Given the description of an element on the screen output the (x, y) to click on. 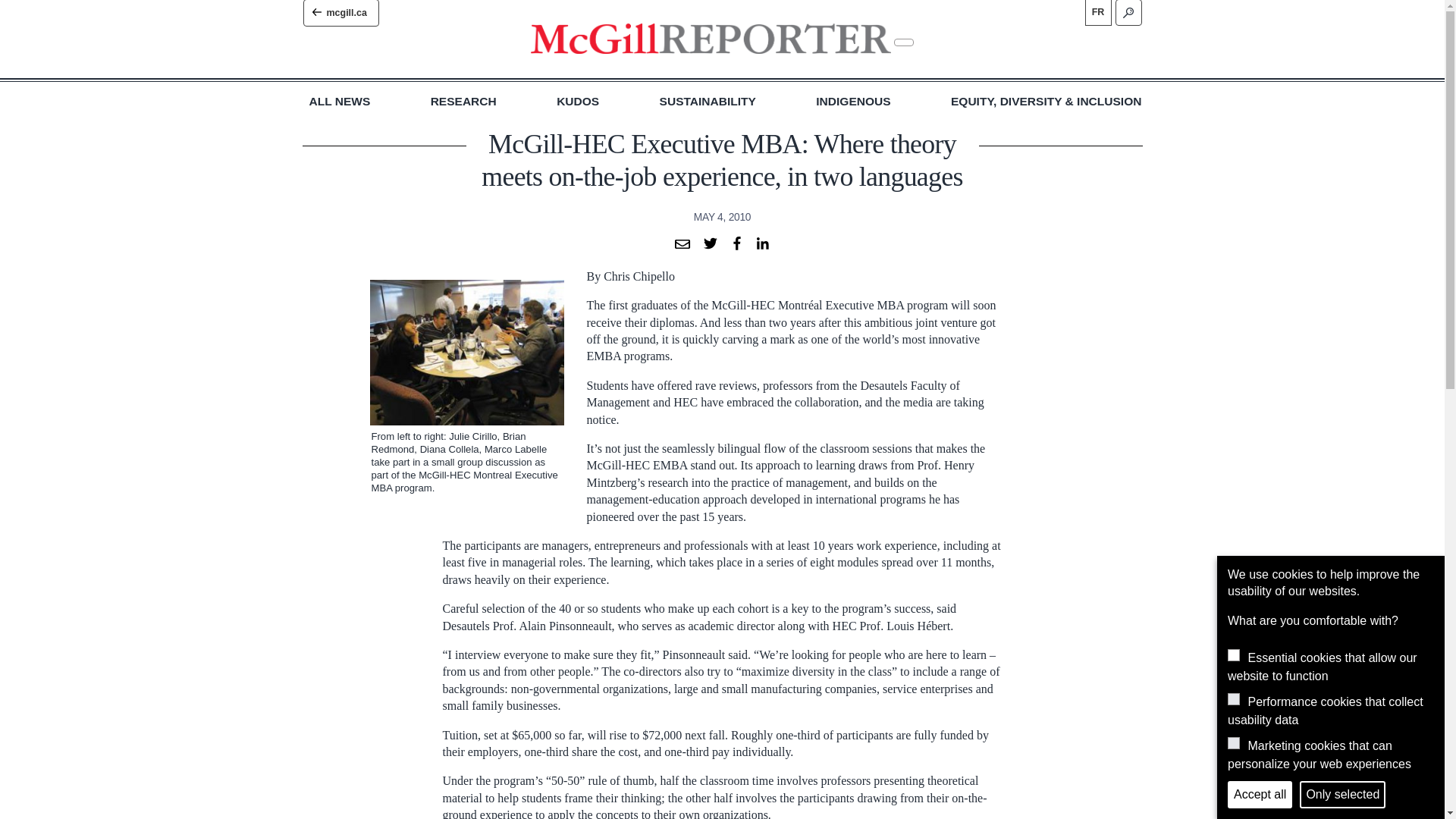
KUDOS (576, 101)
mcgill.ca (340, 13)
marketing (1233, 743)
required (1233, 654)
SUSTAINABILITY (707, 101)
ALL NEWS (339, 101)
INDIGENOUS (852, 101)
RESEARCH (463, 101)
FR (1097, 12)
performance (1233, 698)
